Given the description of an element on the screen output the (x, y) to click on. 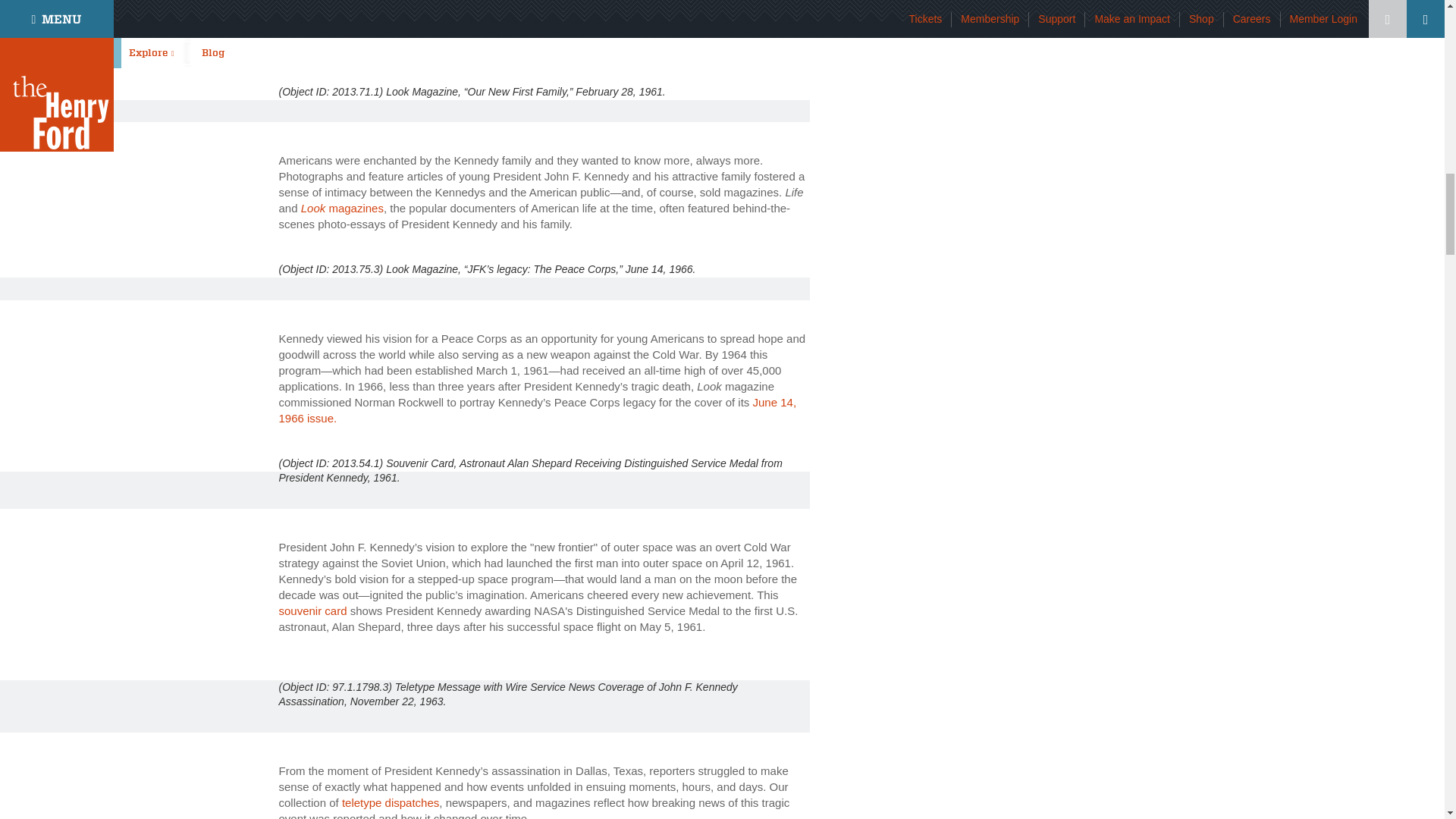
Souvenir Card (384, 46)
Look magazine (342, 207)
June 14, 1966 issue (537, 410)
Teletype Dispatches (390, 802)
